Given the description of an element on the screen output the (x, y) to click on. 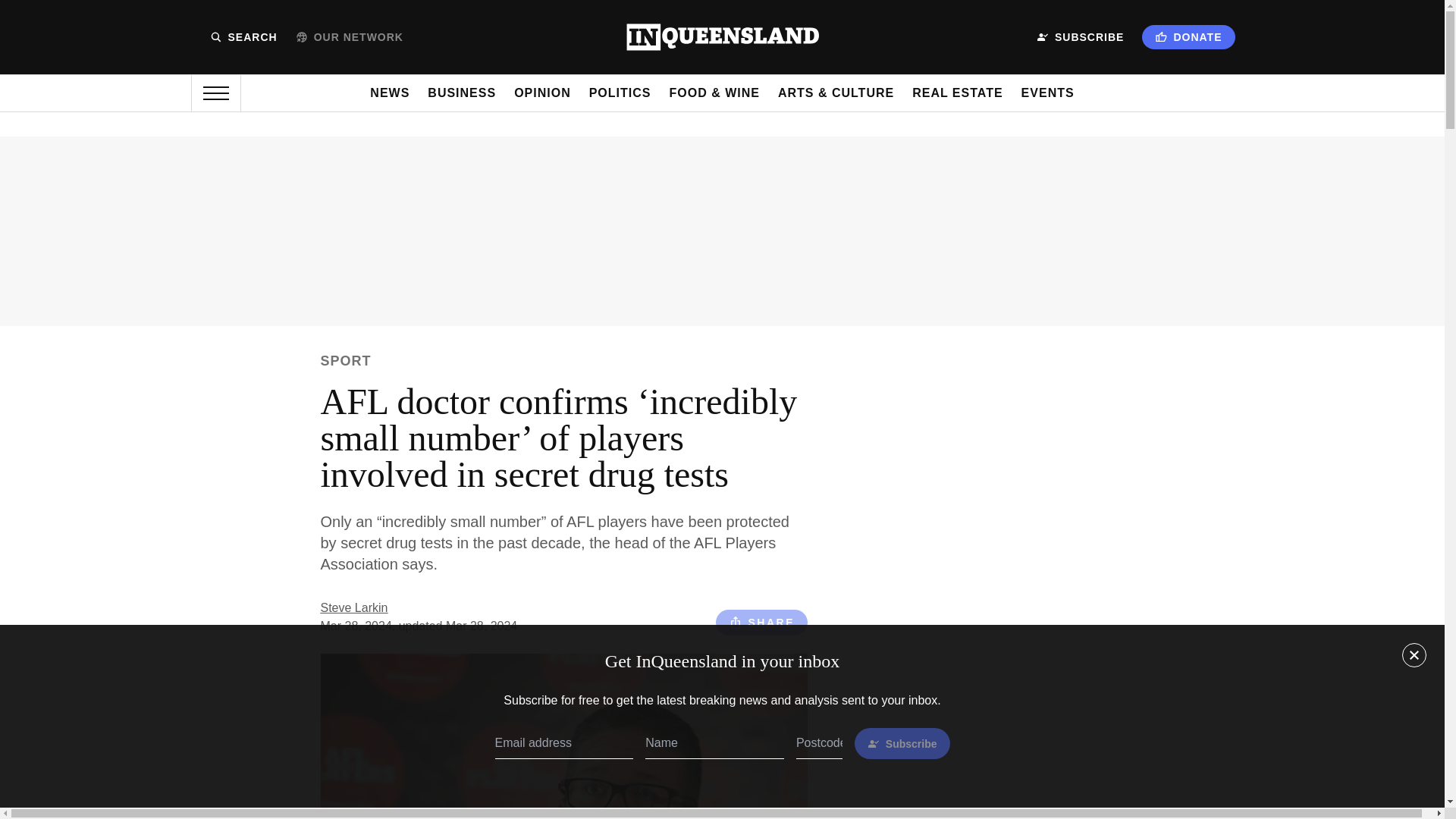
3rd party ad content (1010, 478)
SEARCH (242, 37)
OUR NETWORK (349, 37)
BUSINESS (462, 92)
POLITICS (619, 92)
EVENTS (1048, 92)
OPINION (541, 92)
DONATE (1187, 37)
SPORT (345, 360)
SHARE (762, 622)
SUBSCRIBE (1080, 37)
REAL ESTATE (957, 92)
NEWS (389, 92)
Steve Larkin (353, 607)
